Given the description of an element on the screen output the (x, y) to click on. 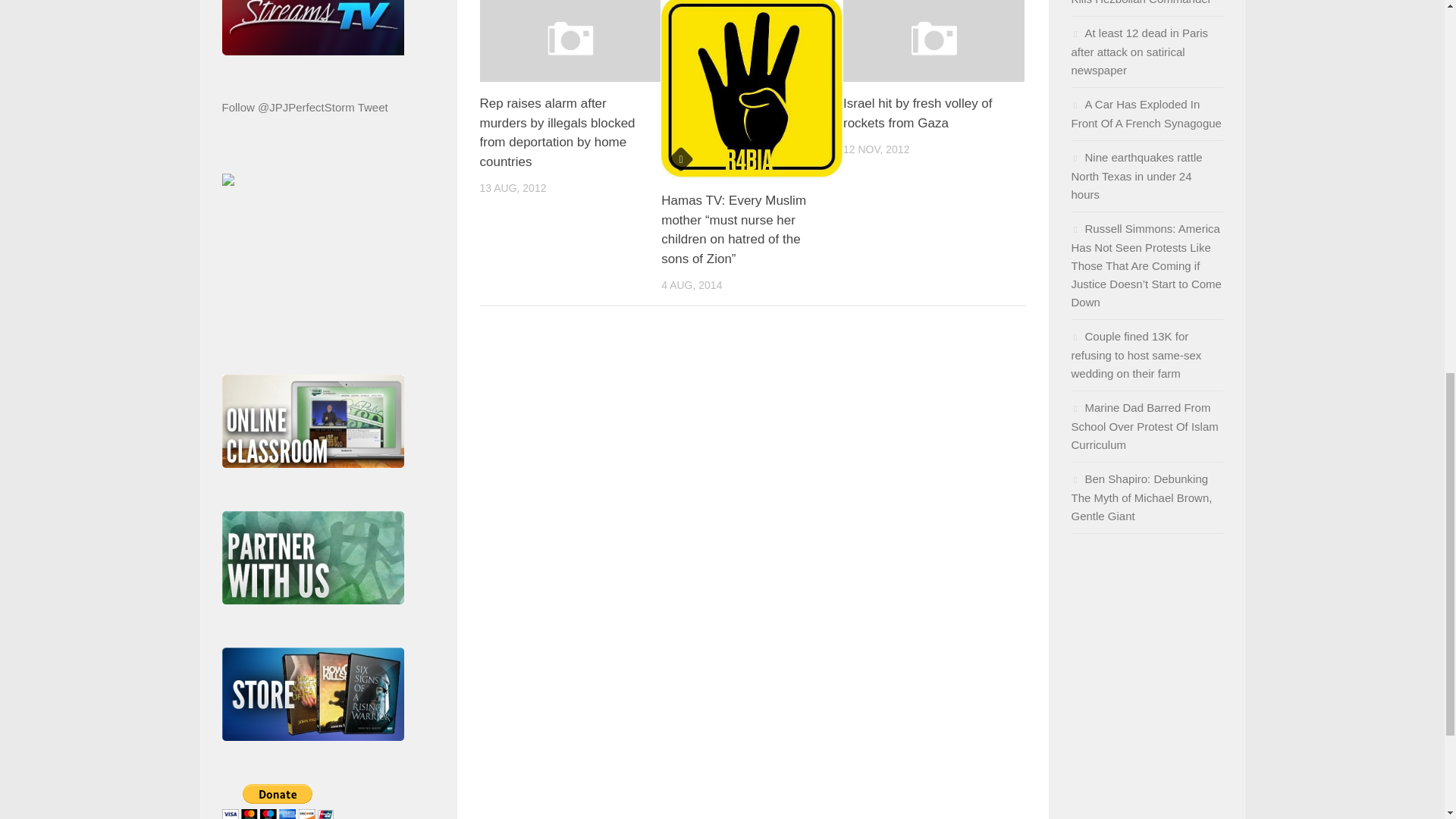
Israel hit by fresh volley of rockets from Gaza (917, 113)
Israel hit by fresh volley of rockets from Gaza (934, 40)
Preparing for the Perfect Storm.com (226, 181)
